Given the description of an element on the screen output the (x, y) to click on. 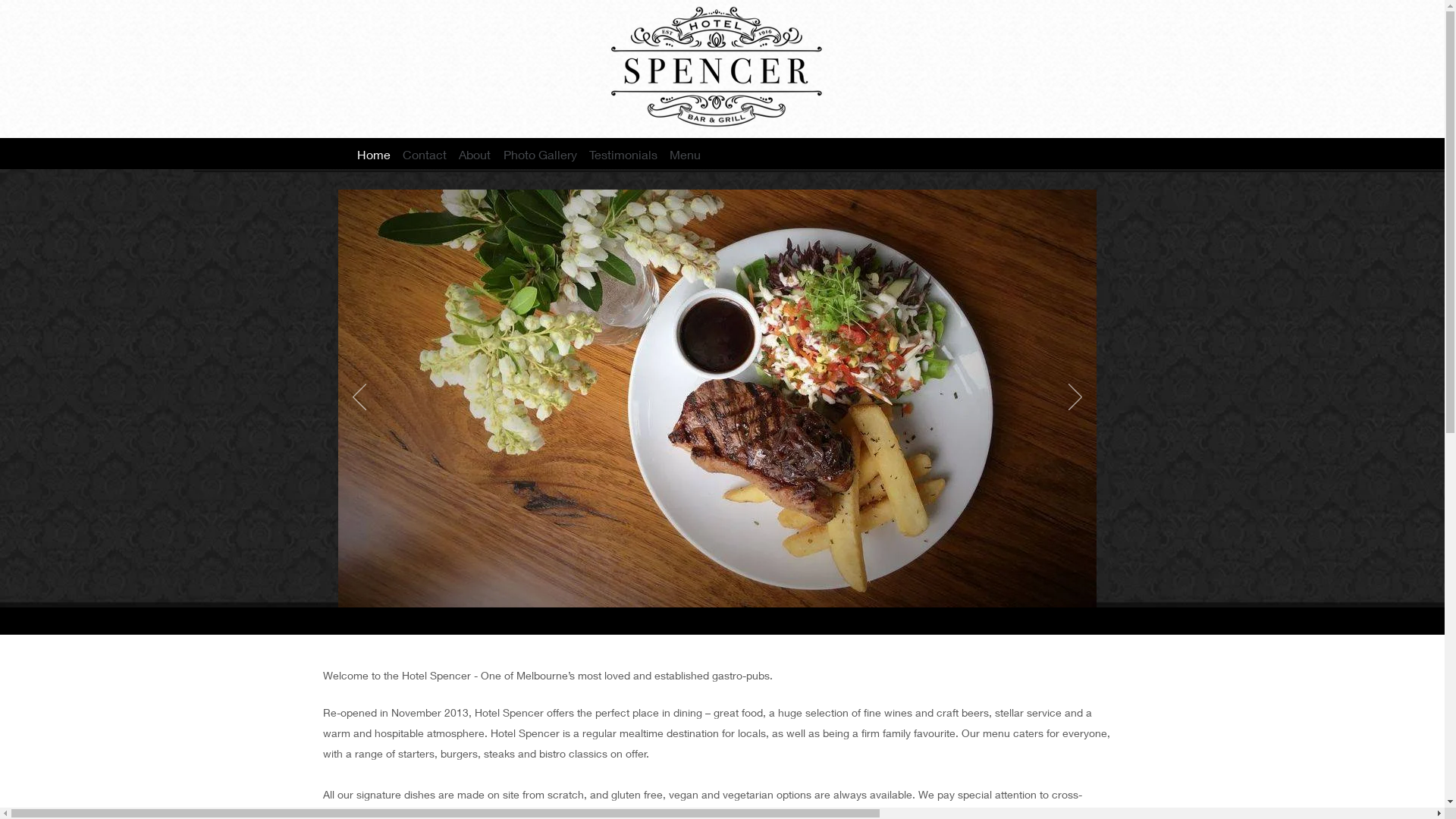
Testimonials Element type: text (623, 154)
Menu Element type: text (684, 154)
Photo Gallery Element type: text (539, 154)
Home Element type: text (372, 154)
Contact Element type: text (424, 154)
About Element type: text (474, 154)
